Given the description of an element on the screen output the (x, y) to click on. 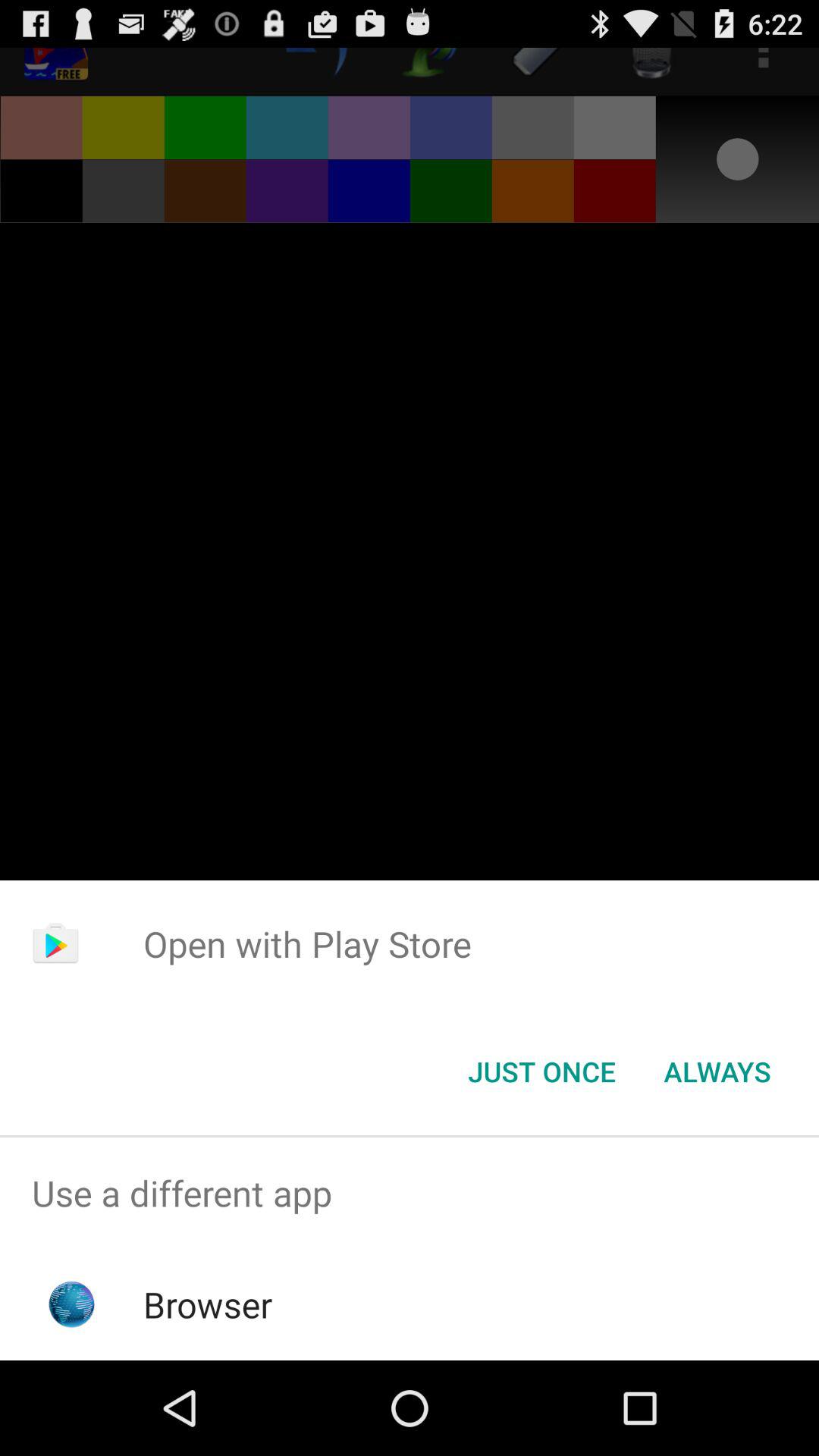
turn on the button to the right of the just once icon (717, 1071)
